Given the description of an element on the screen output the (x, y) to click on. 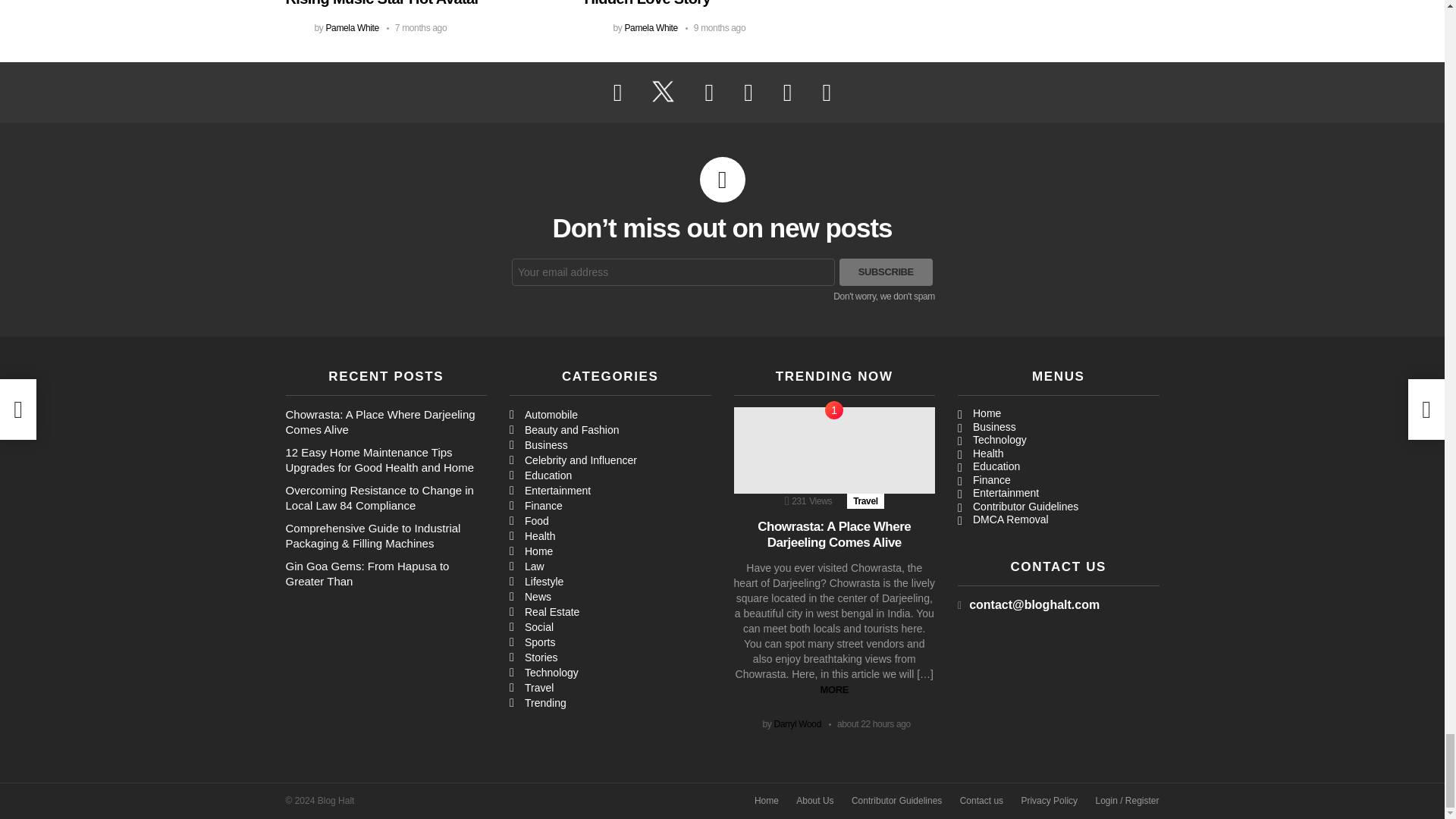
Subscribe (886, 271)
